Given the description of an element on the screen output the (x, y) to click on. 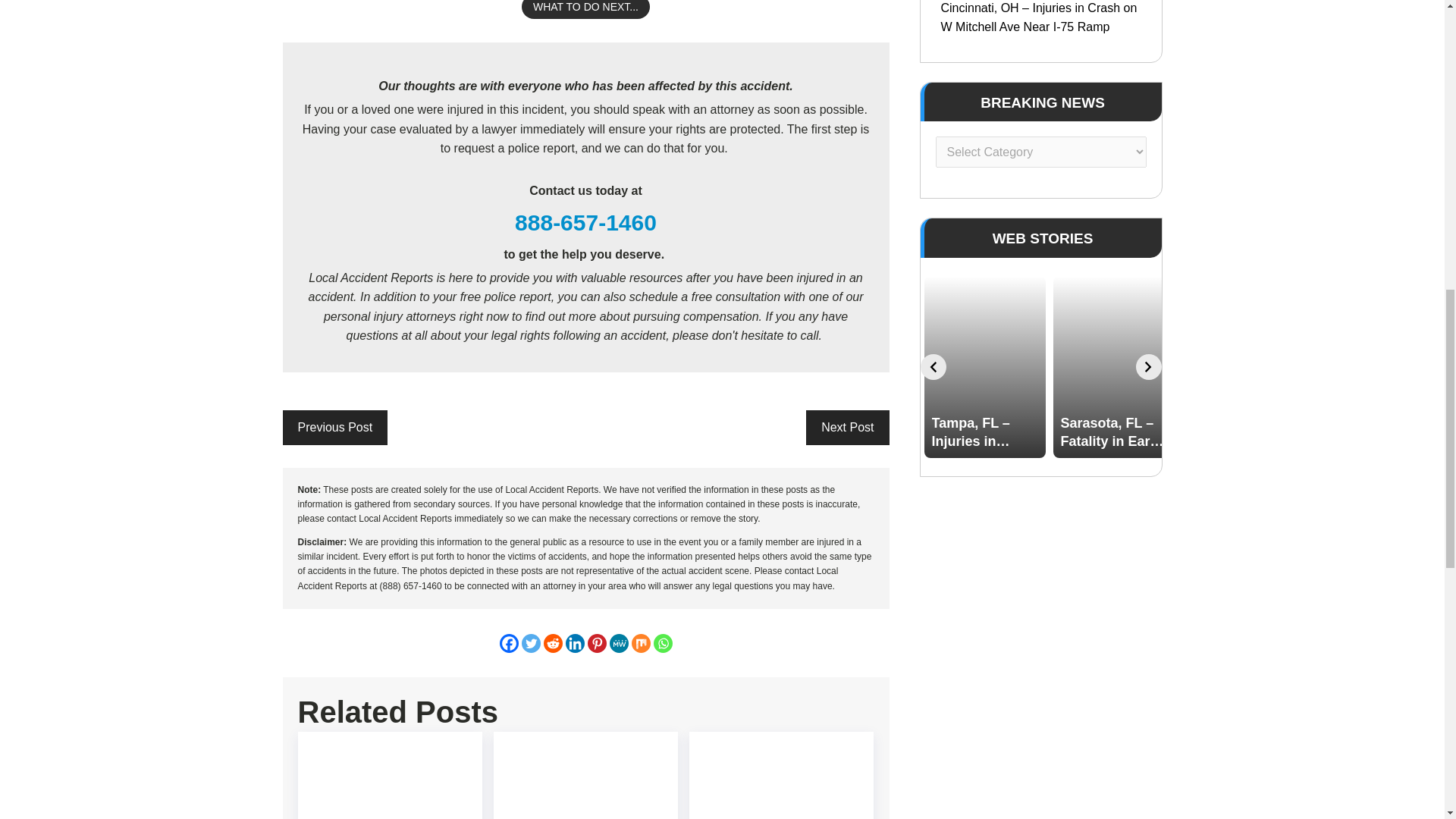
Linkedin (575, 642)
MeWe (619, 642)
Whatsapp (662, 642)
Twitter (530, 642)
Facebook (508, 642)
Reddit (552, 642)
Mix (639, 642)
Pinterest (595, 642)
